Given the description of an element on the screen output the (x, y) to click on. 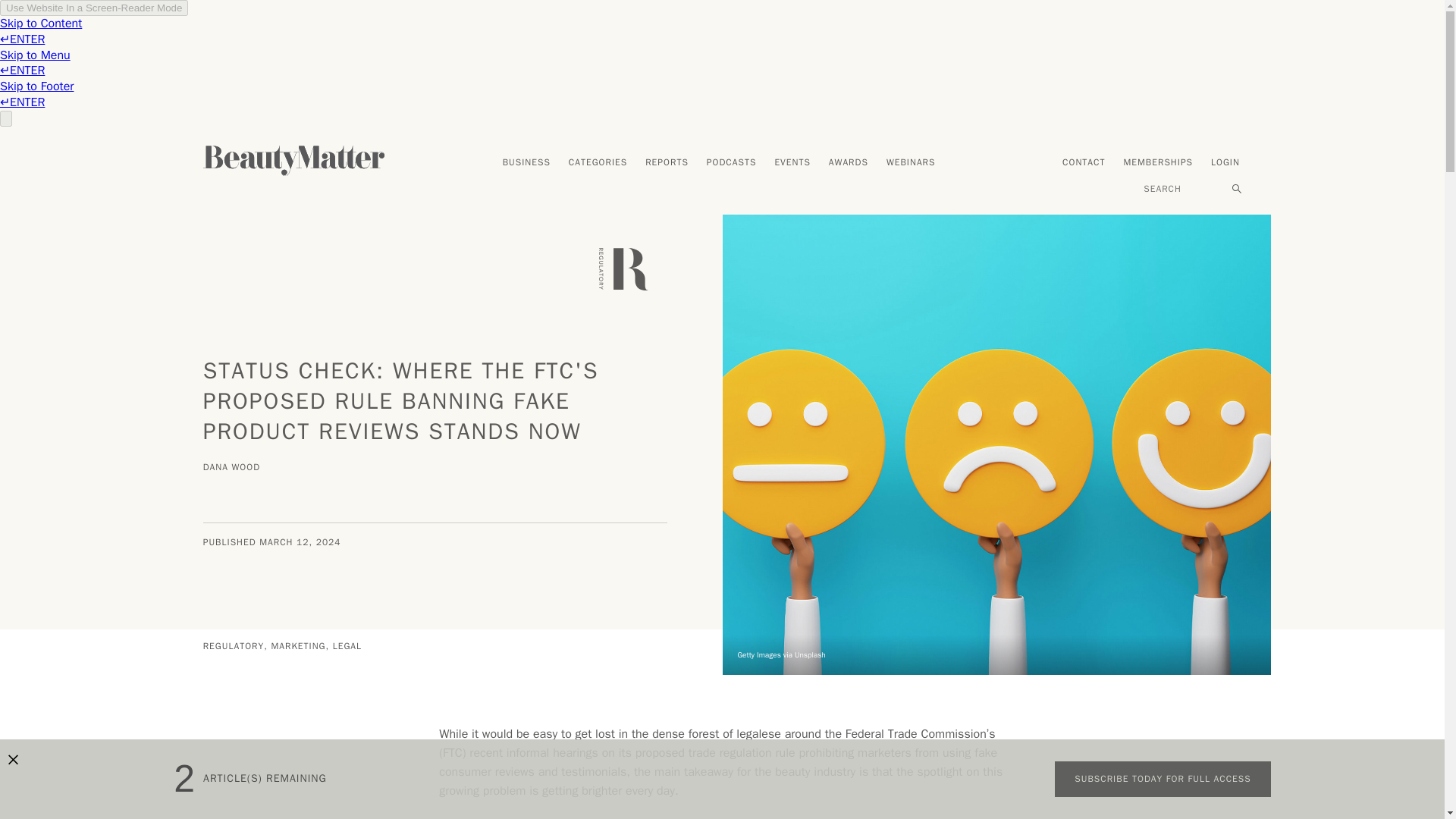
CATEGORIES (597, 163)
SUBSCRIBE TODAY FOR FULL ACCESS (1161, 779)
REGULATORY (235, 645)
MEMBERSHIPS (1157, 163)
LEGAL (347, 645)
BUSINESS (526, 163)
CONTACT (1082, 163)
DANA WOOD (233, 468)
WEBINARS (910, 163)
AWARDS (848, 163)
